Given the description of an element on the screen output the (x, y) to click on. 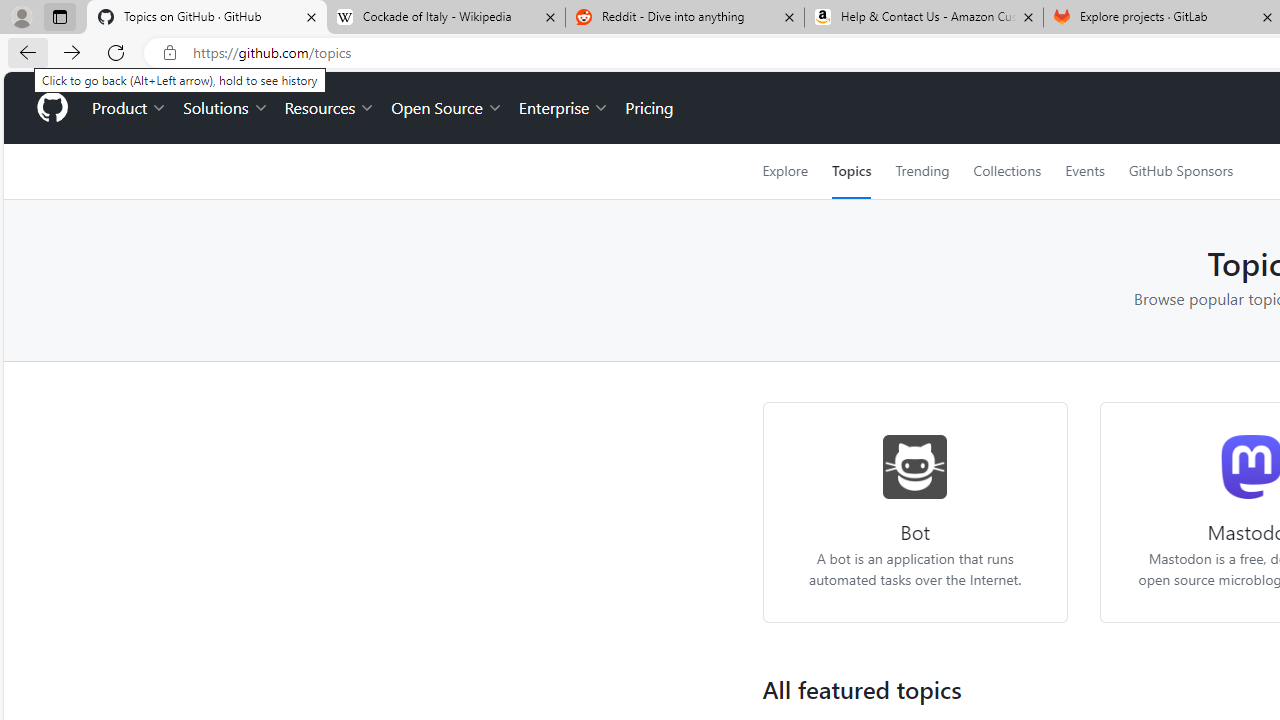
Solutions (225, 107)
